Given the description of an element on the screen output the (x, y) to click on. 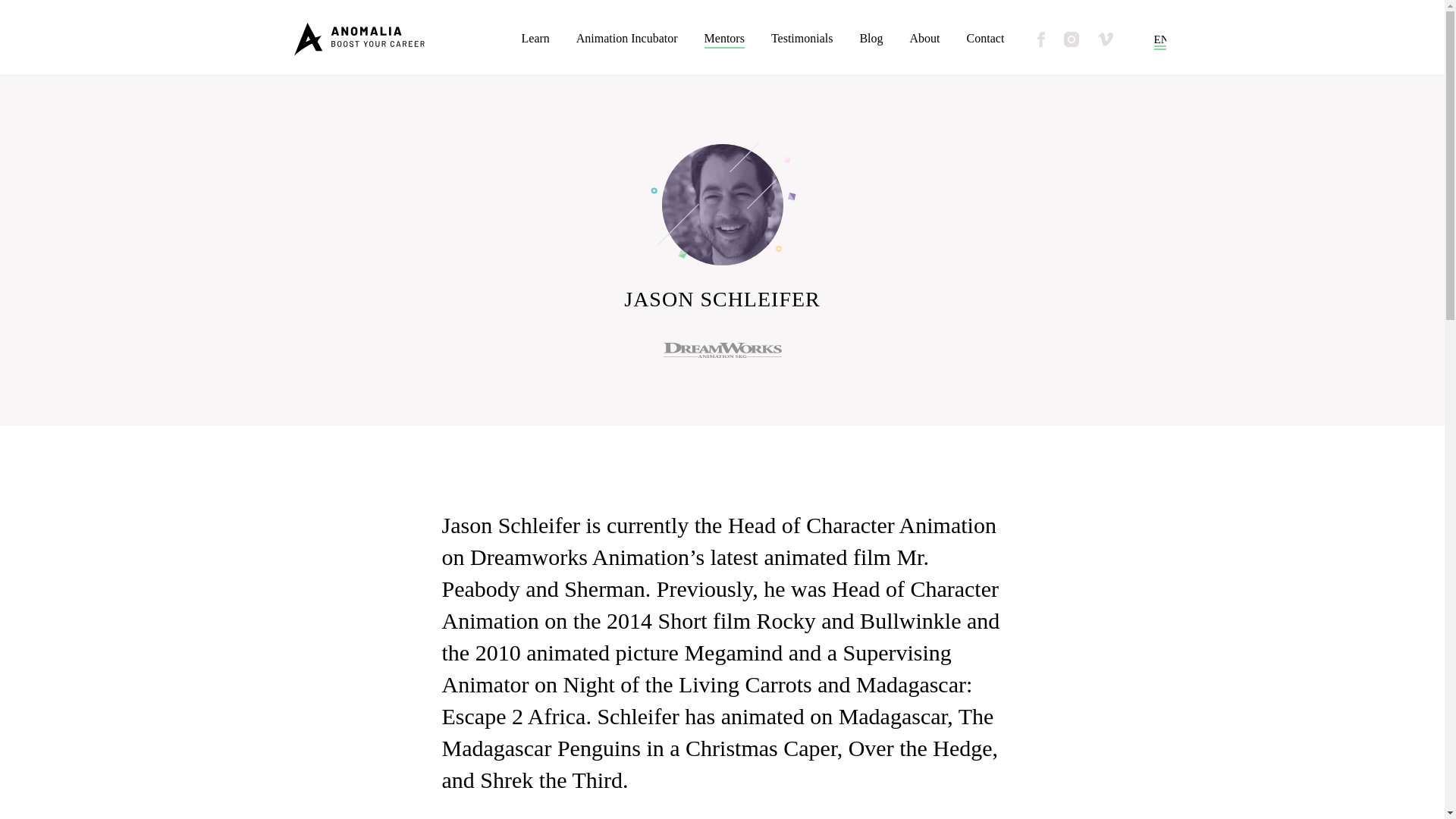
Animation Incubator (627, 39)
Blog (870, 39)
About (925, 39)
Contact (985, 39)
Vimeo (1105, 38)
Instagram (1070, 38)
Learn (535, 39)
Mentors (724, 39)
Testimonials (801, 39)
EN (1161, 39)
